Given the description of an element on the screen output the (x, y) to click on. 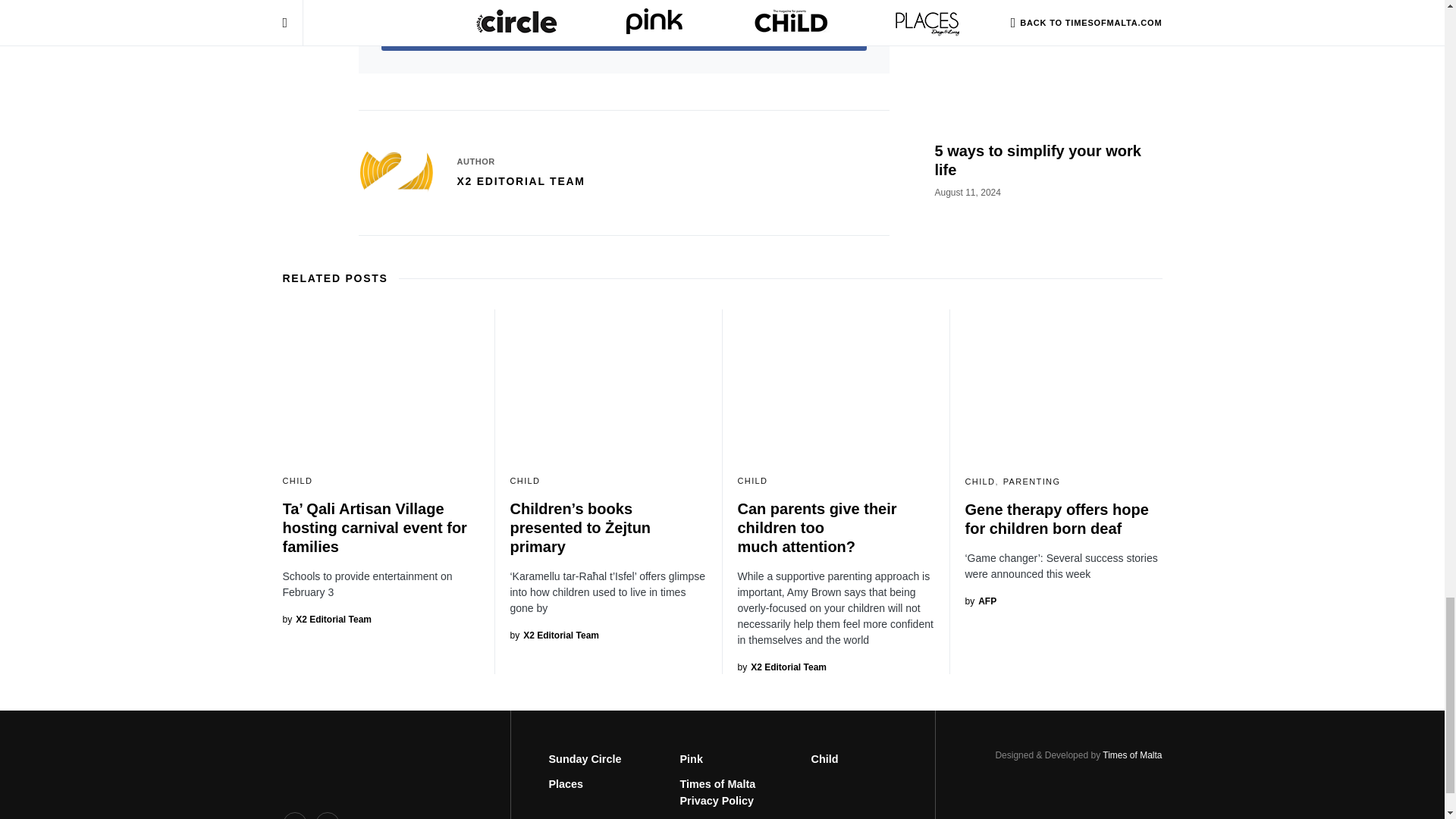
View all posts by X2 Editorial Team (781, 667)
View all posts by X2 Editorial Team (553, 635)
View all posts by AFP (979, 601)
View all posts by X2 Editorial Team (326, 619)
